Given the description of an element on the screen output the (x, y) to click on. 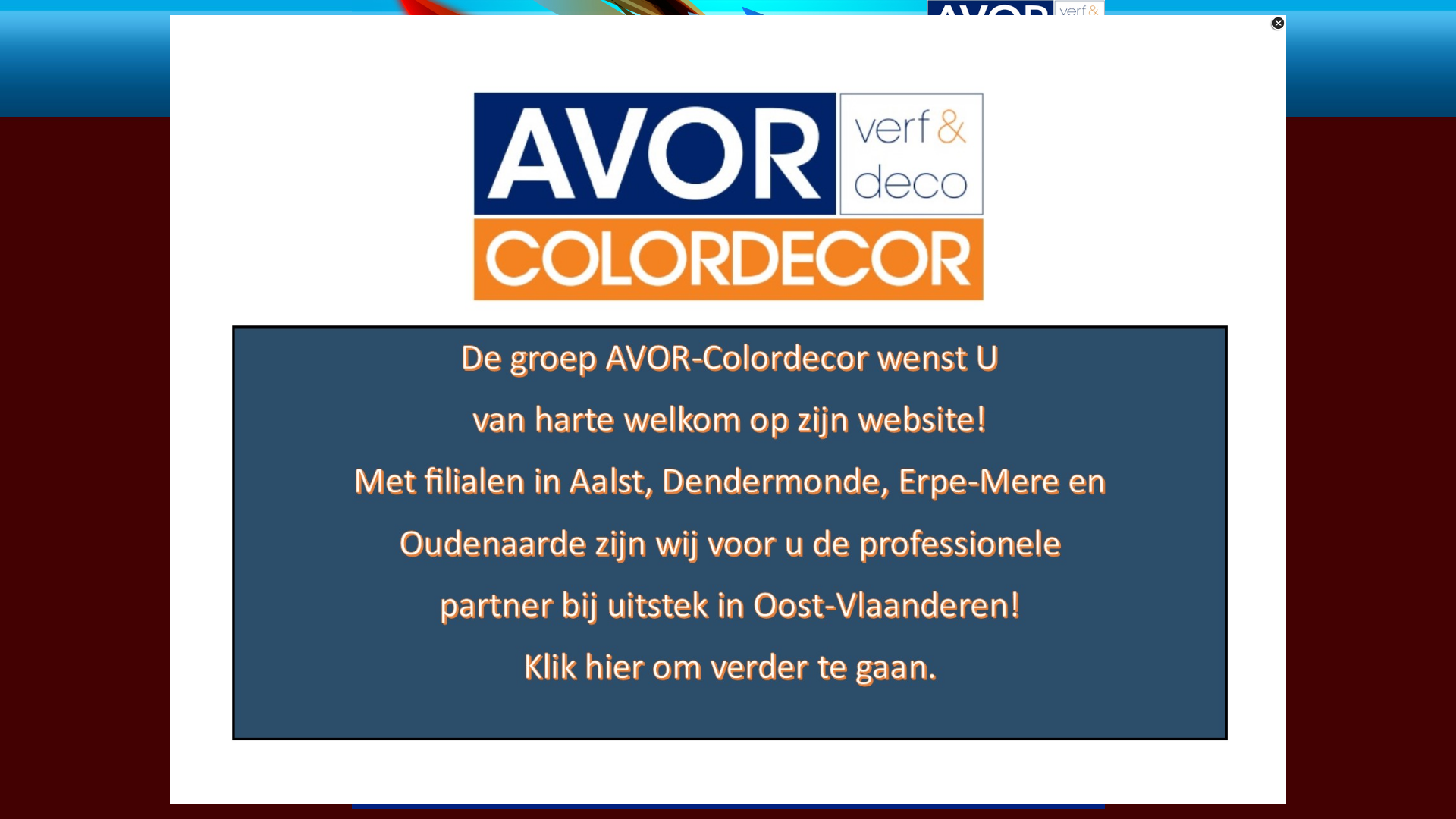
Home Element type: text (406, 152)
